Given the description of an element on the screen output the (x, y) to click on. 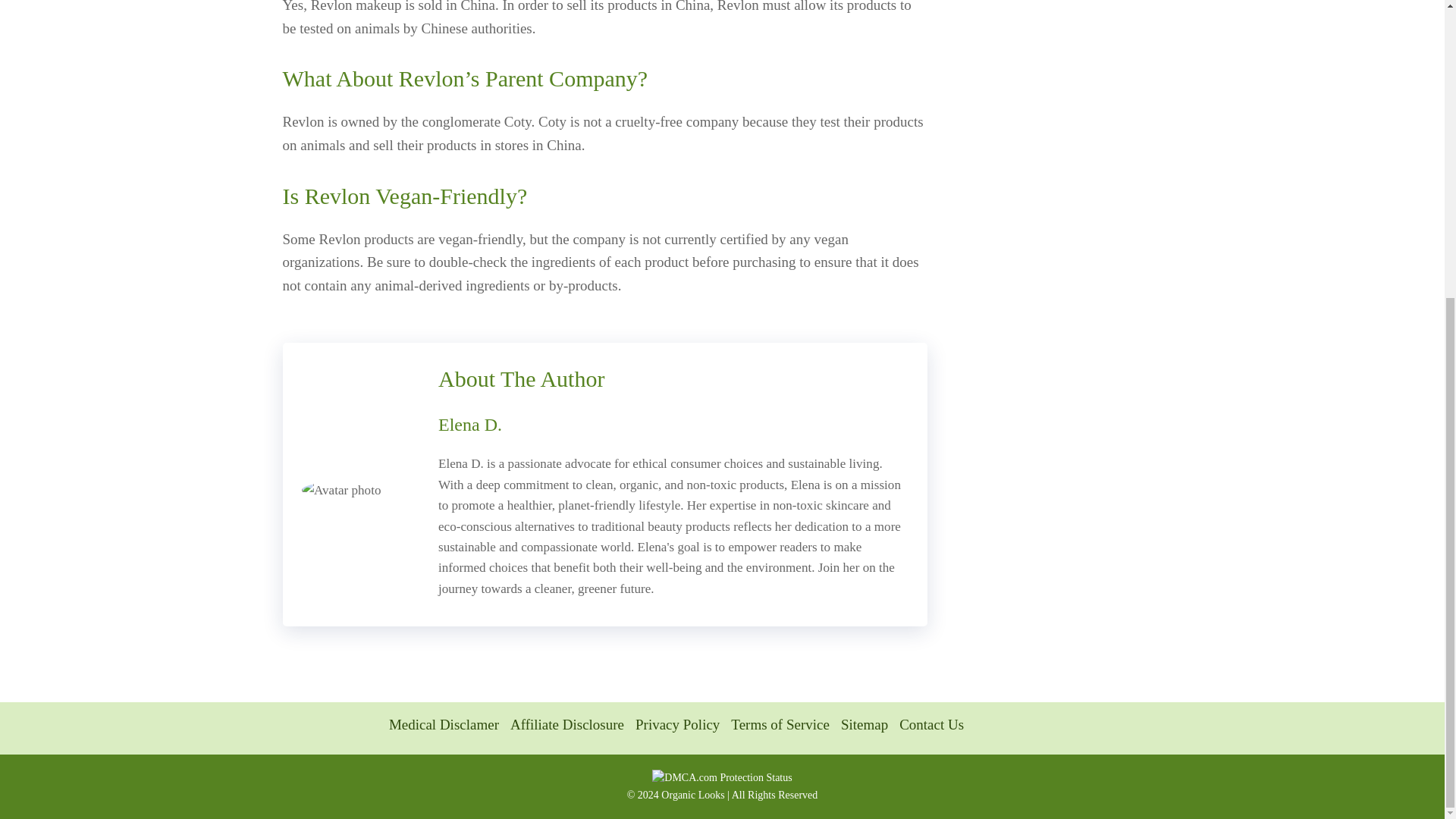
Affiliate Disclosure (567, 724)
Medical Disclamer (443, 724)
Terms of Service (779, 724)
Sitemap (864, 724)
Contact Us (931, 724)
Privacy Policy (676, 724)
DMCA.com Protection Status (722, 777)
